Given the description of an element on the screen output the (x, y) to click on. 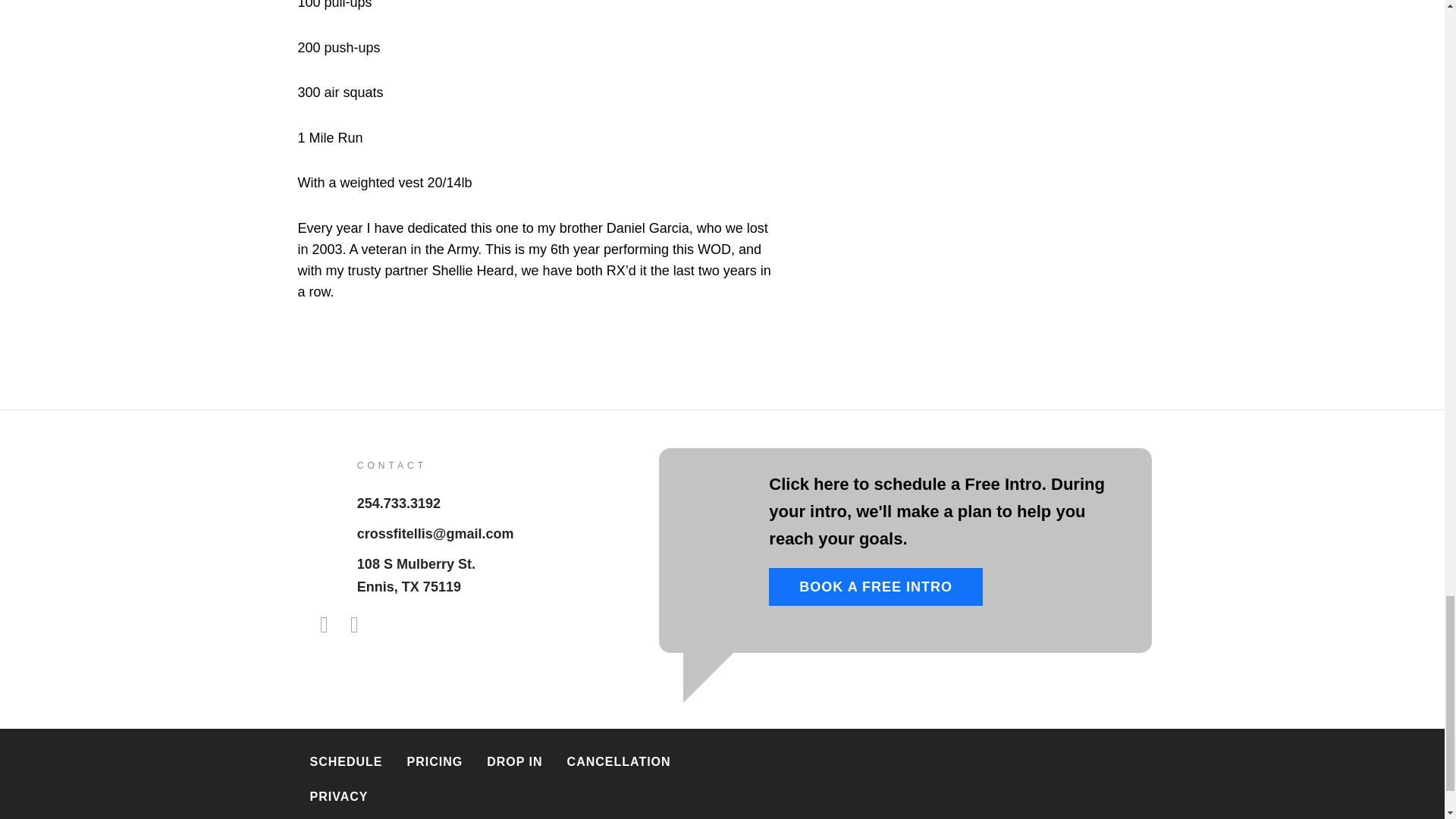
254.733.3192 (398, 503)
CANCELLATION (618, 761)
PRIVACY (338, 796)
Facebook-f (323, 624)
BOOK A FREE INTRO (416, 575)
PRICING (875, 587)
SCHEDULE (435, 761)
DROP IN (345, 761)
Instagram (514, 761)
